Given the description of an element on the screen output the (x, y) to click on. 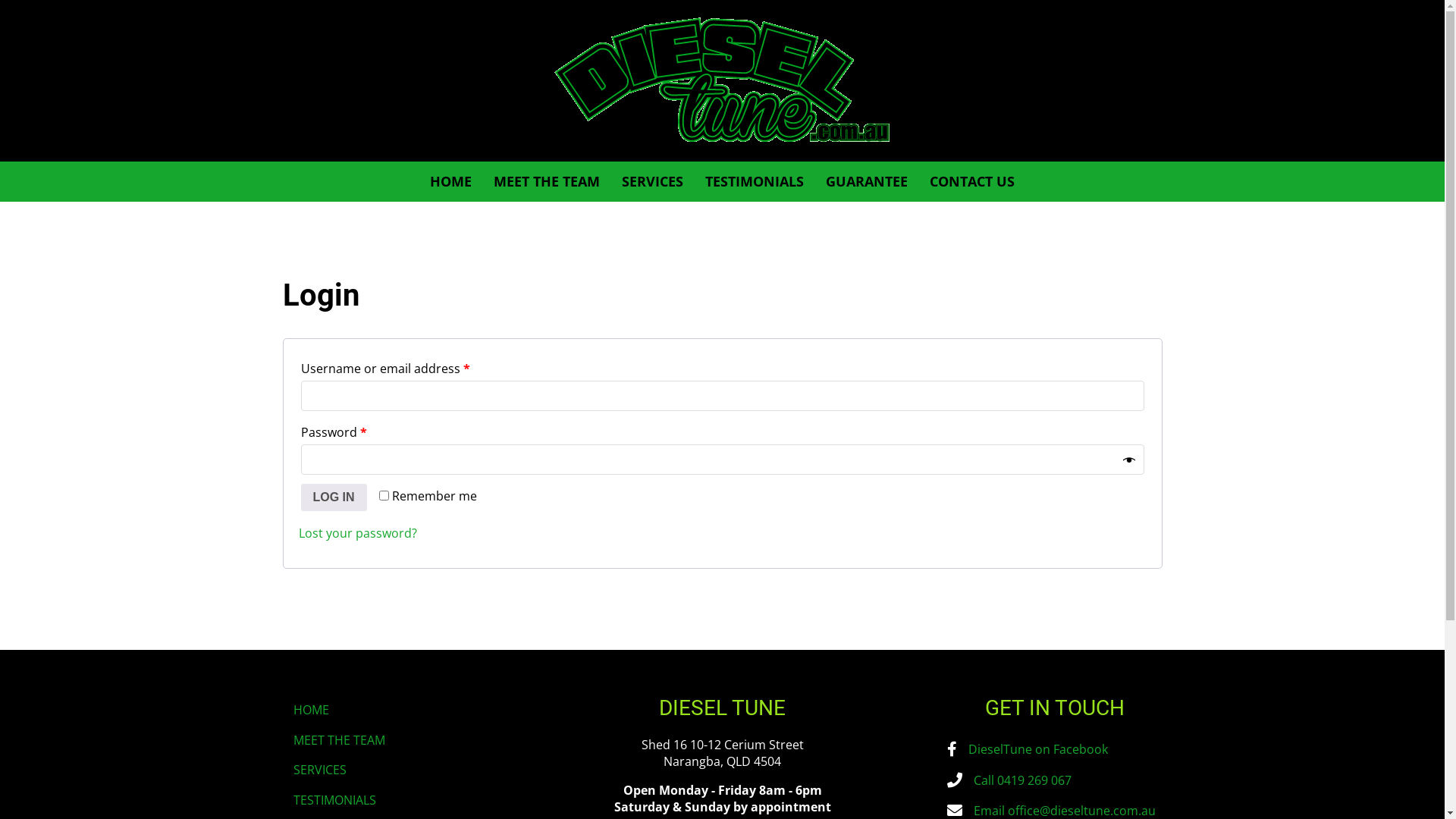
SERVICES Element type: text (389, 769)
MEET THE TEAM Element type: text (546, 181)
CONTACT US Element type: text (972, 181)
TESTIMONIALS Element type: text (754, 181)
HOME Element type: text (450, 181)
LOG IN Element type: text (333, 497)
HOME Element type: text (389, 709)
Call 0419 269 067 Element type: text (1022, 779)
logo Element type: hover (722, 80)
MEET THE TEAM Element type: text (389, 739)
SERVICES Element type: text (652, 181)
GUARANTEE Element type: text (866, 181)
TESTIMONIALS Element type: text (389, 799)
Lost your password? Element type: text (357, 532)
DieselTune on Facebook Element type: text (1037, 748)
